Given the description of an element on the screen output the (x, y) to click on. 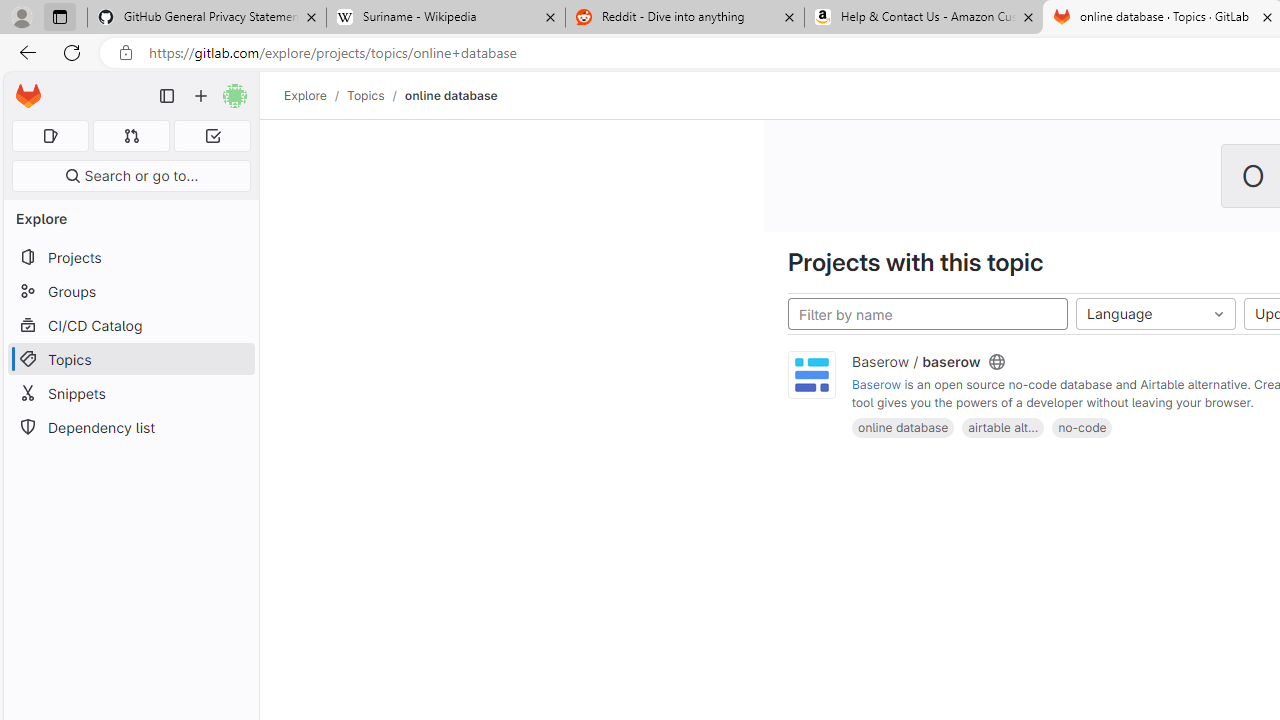
Snippets (130, 393)
Groups (130, 291)
Snippets (130, 393)
Groups (130, 291)
Topics (365, 95)
CI/CD Catalog (130, 325)
Explore (305, 95)
Topics/ (375, 95)
no-code (1082, 426)
Class: s16 (996, 362)
To-Do list 0 (212, 136)
Projects (130, 257)
Class: project (811, 375)
Primary navigation sidebar (167, 96)
